Given the description of an element on the screen output the (x, y) to click on. 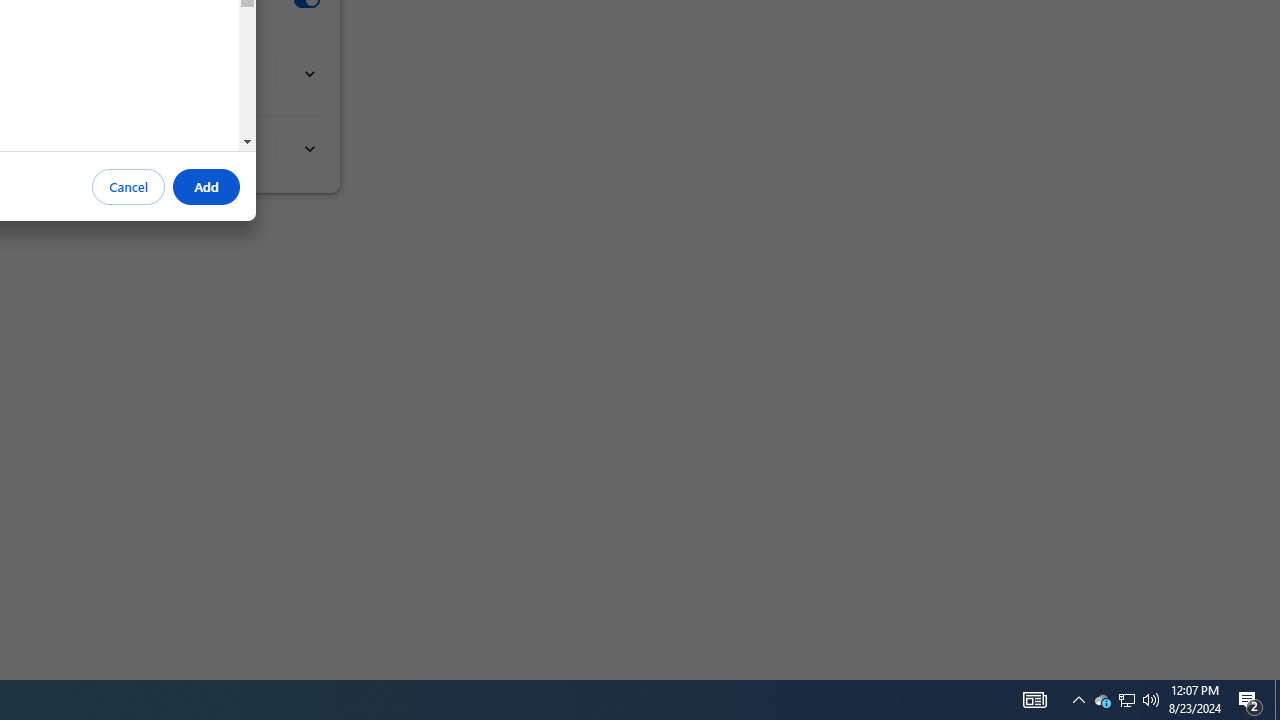
Cancel (129, 187)
Add (206, 187)
